Given the description of an element on the screen output the (x, y) to click on. 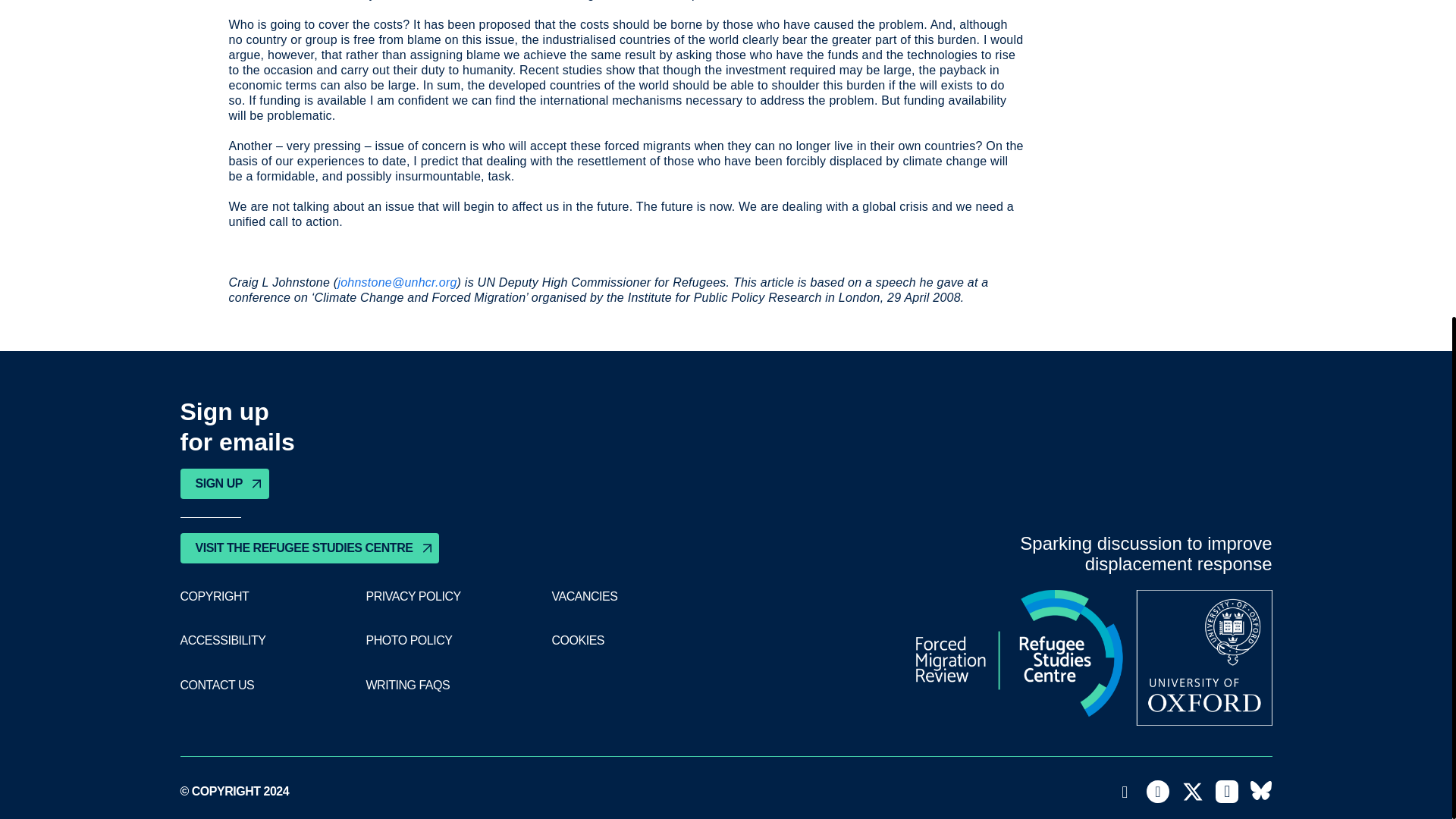
VK (1260, 791)
ACCESSIBILITY (223, 640)
PHOTO POLICY (408, 640)
WRITING FAQS (407, 685)
Facebook (1158, 791)
LinkedIn (1227, 791)
VISIT THE REFUGEE STUDIES CENTRE (309, 548)
Email (1124, 791)
COPYRIGHT (214, 596)
COOKIES (578, 640)
